Given the description of an element on the screen output the (x, y) to click on. 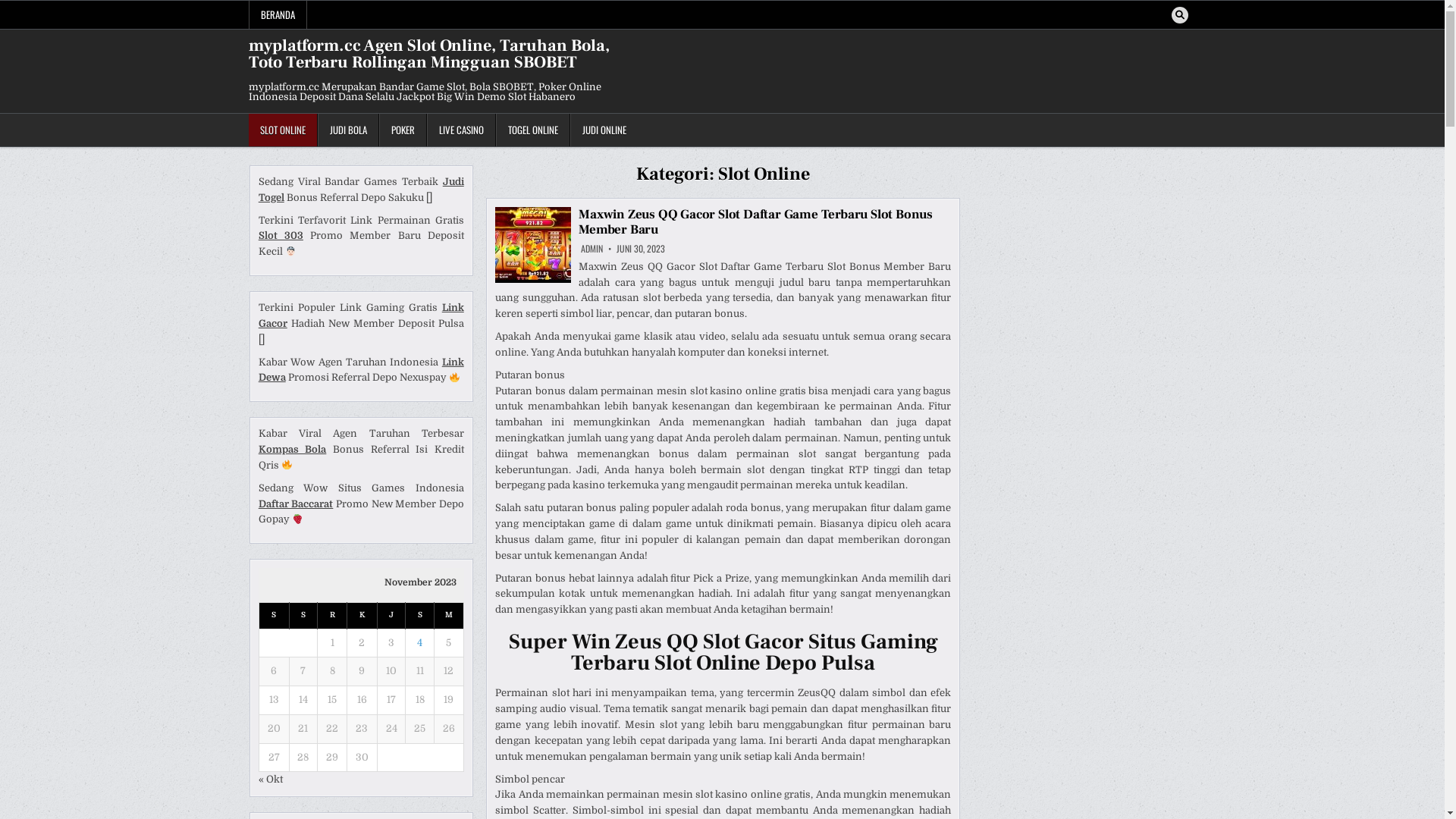
LIVE CASINO Element type: text (460, 129)
Link Gacor Element type: text (361, 315)
BERANDA Element type: text (277, 14)
Kompas Bola Element type: text (292, 449)
4 Element type: text (419, 642)
Search Element type: hover (1179, 14)
Link Dewa Element type: text (361, 369)
SLOT ONLINE Element type: text (282, 129)
JUDI BOLA Element type: text (347, 129)
TOGEL ONLINE Element type: text (532, 129)
Slot 303 Element type: text (280, 235)
Daftar Baccarat Element type: text (295, 503)
JUDI ONLINE Element type: text (603, 129)
ADMIN Element type: text (591, 248)
Judi Togel Element type: text (361, 189)
POKER Element type: text (402, 129)
